Given the description of an element on the screen output the (x, y) to click on. 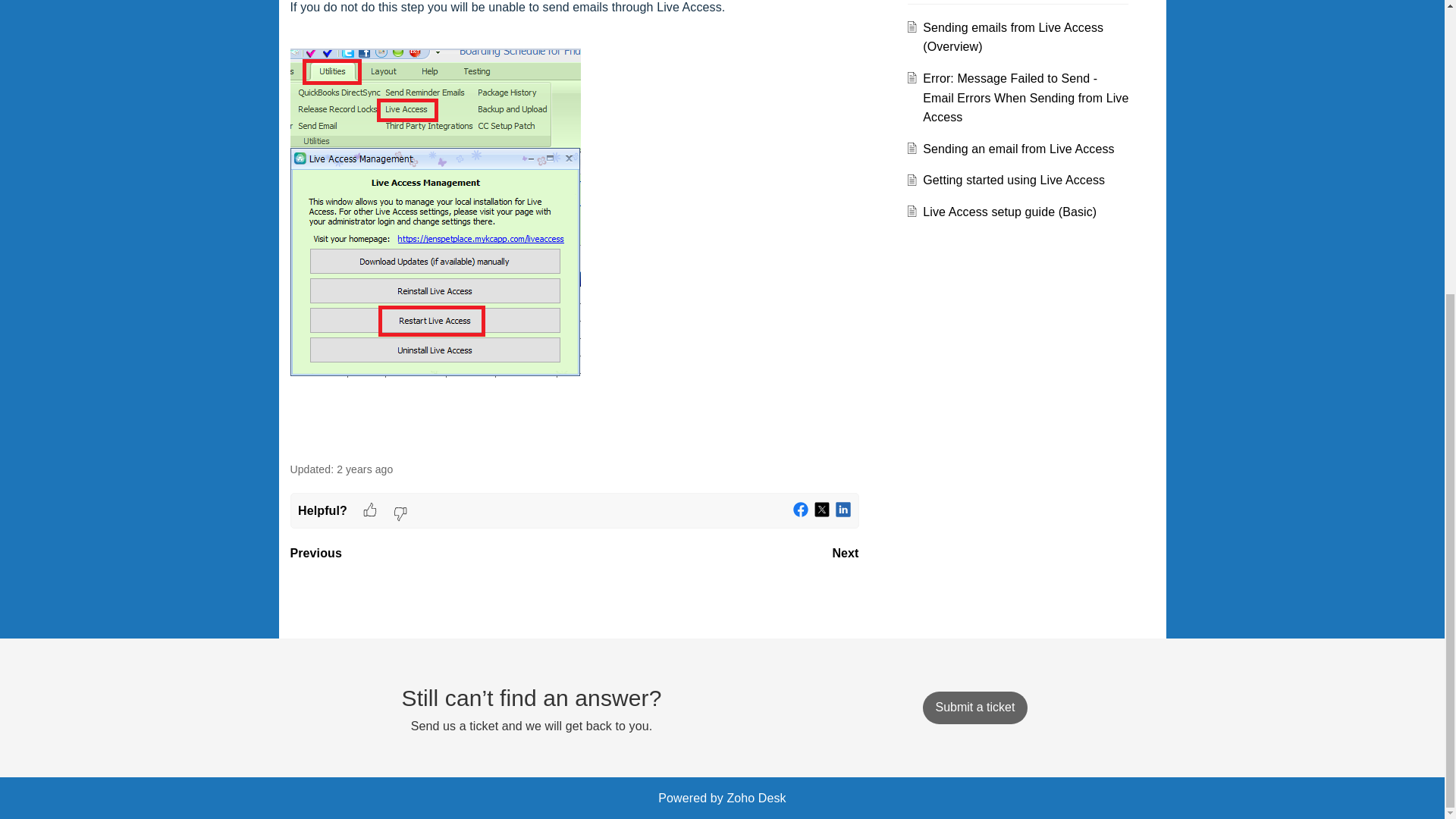
Submit a ticket (974, 707)
Previous (314, 553)
Facebook (800, 510)
23 Oct 2021 12:07 AM (364, 469)
Twitter (821, 510)
Next (845, 553)
Zoho Desk (756, 797)
Submit a ticket (974, 707)
Getting started using Live Access (1014, 179)
LinkedIn (842, 510)
Sending an email from Live Access (1018, 148)
